Given the description of an element on the screen output the (x, y) to click on. 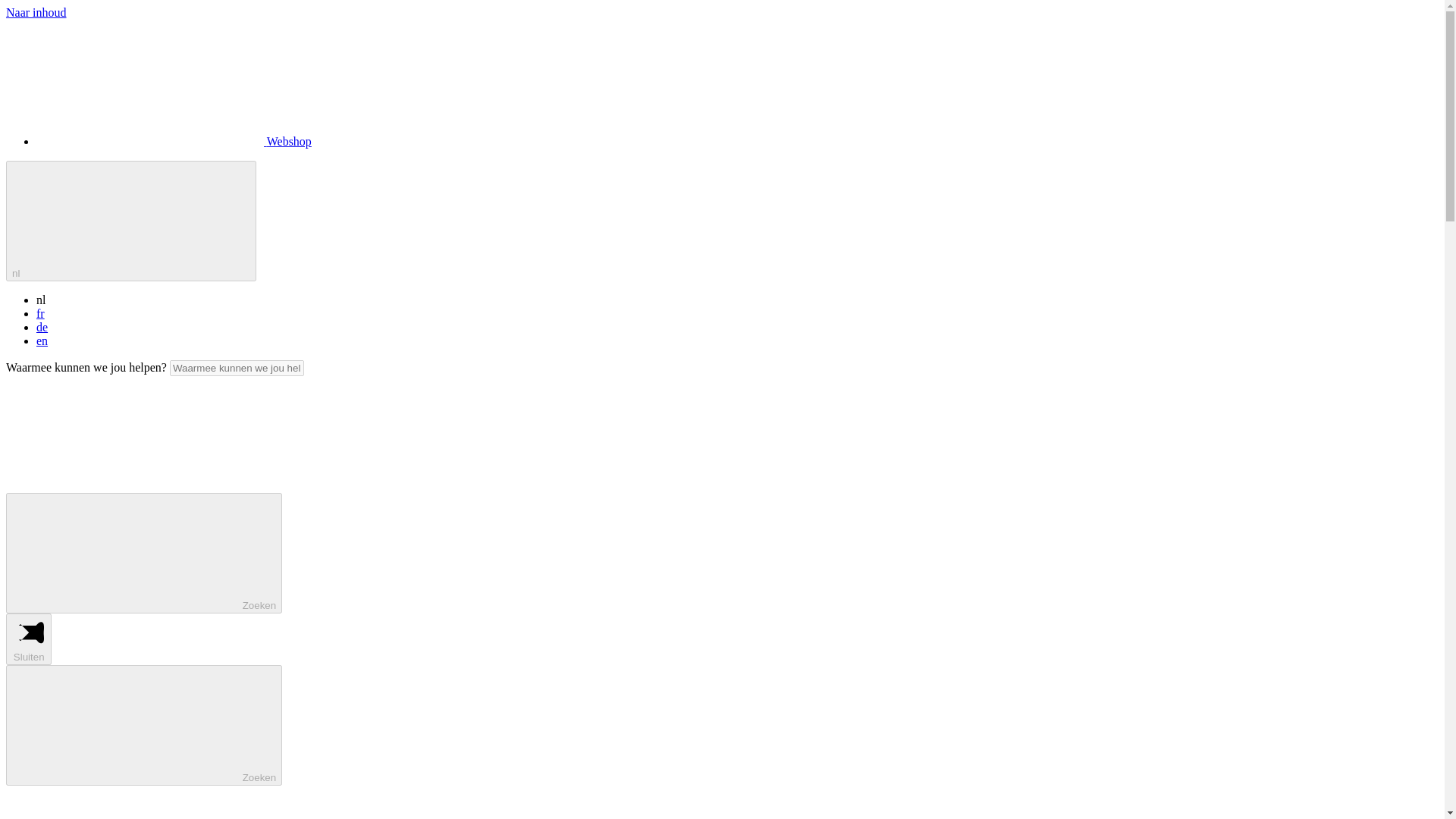
nl (130, 220)
Zoeken (143, 553)
Zoeken (143, 725)
Naar inhoud (35, 11)
Webshop (173, 141)
